Given the description of an element on the screen output the (x, y) to click on. 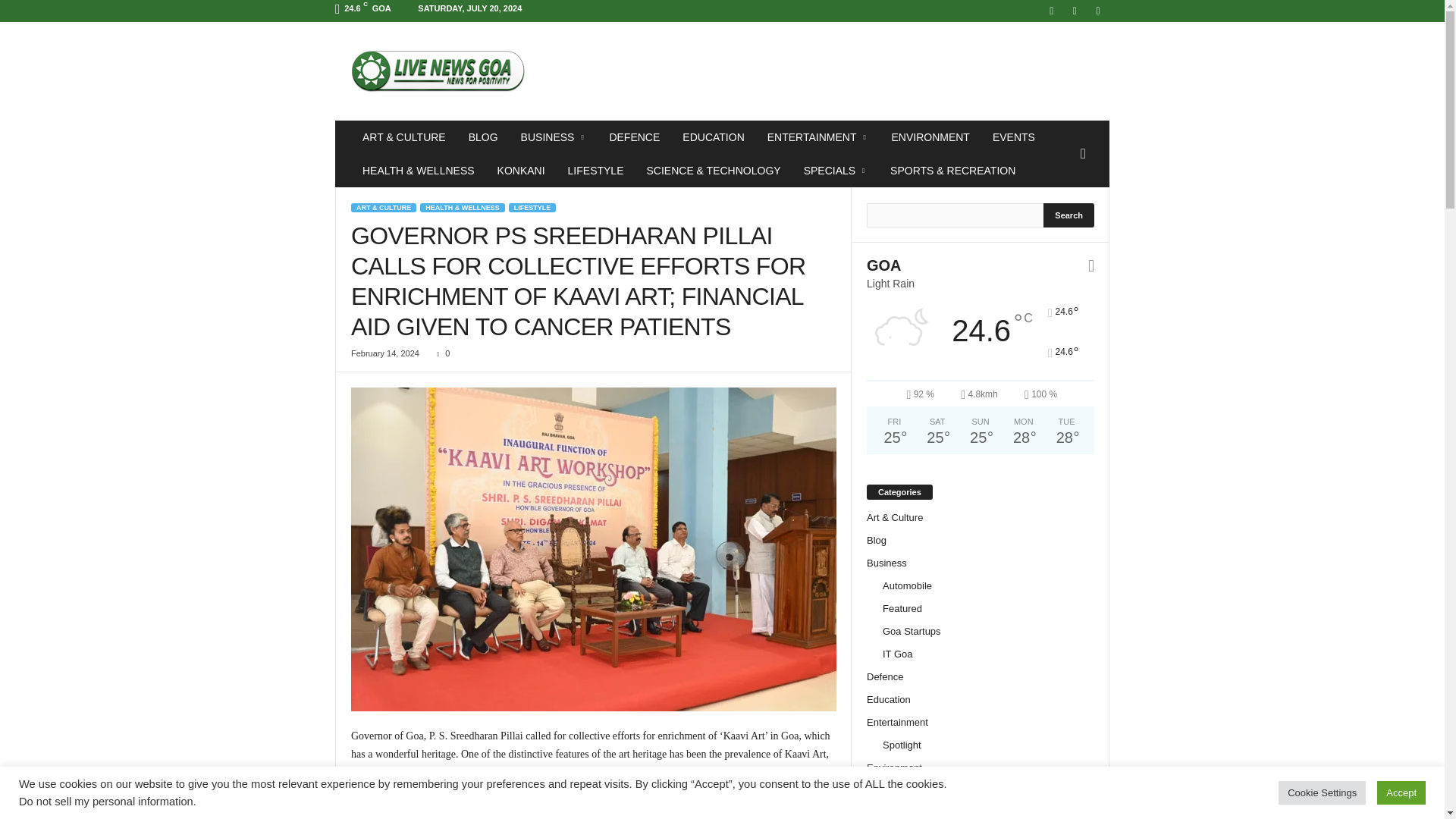
Search (1068, 215)
Live News Goa - News for Positivity! (437, 70)
